Given the description of an element on the screen output the (x, y) to click on. 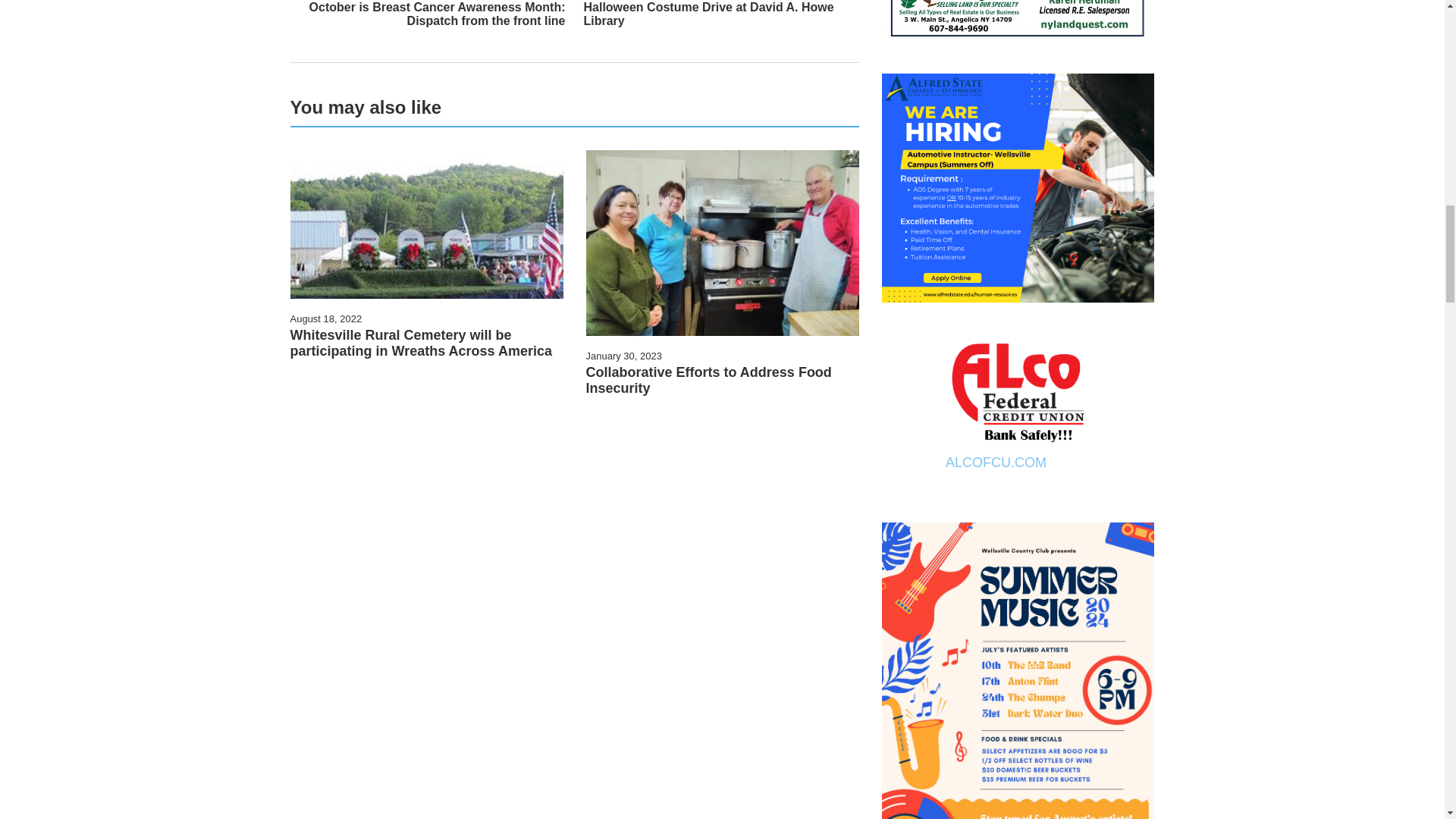
Collaborative Efforts to Address Food Insecurity (708, 379)
